Given the description of an element on the screen output the (x, y) to click on. 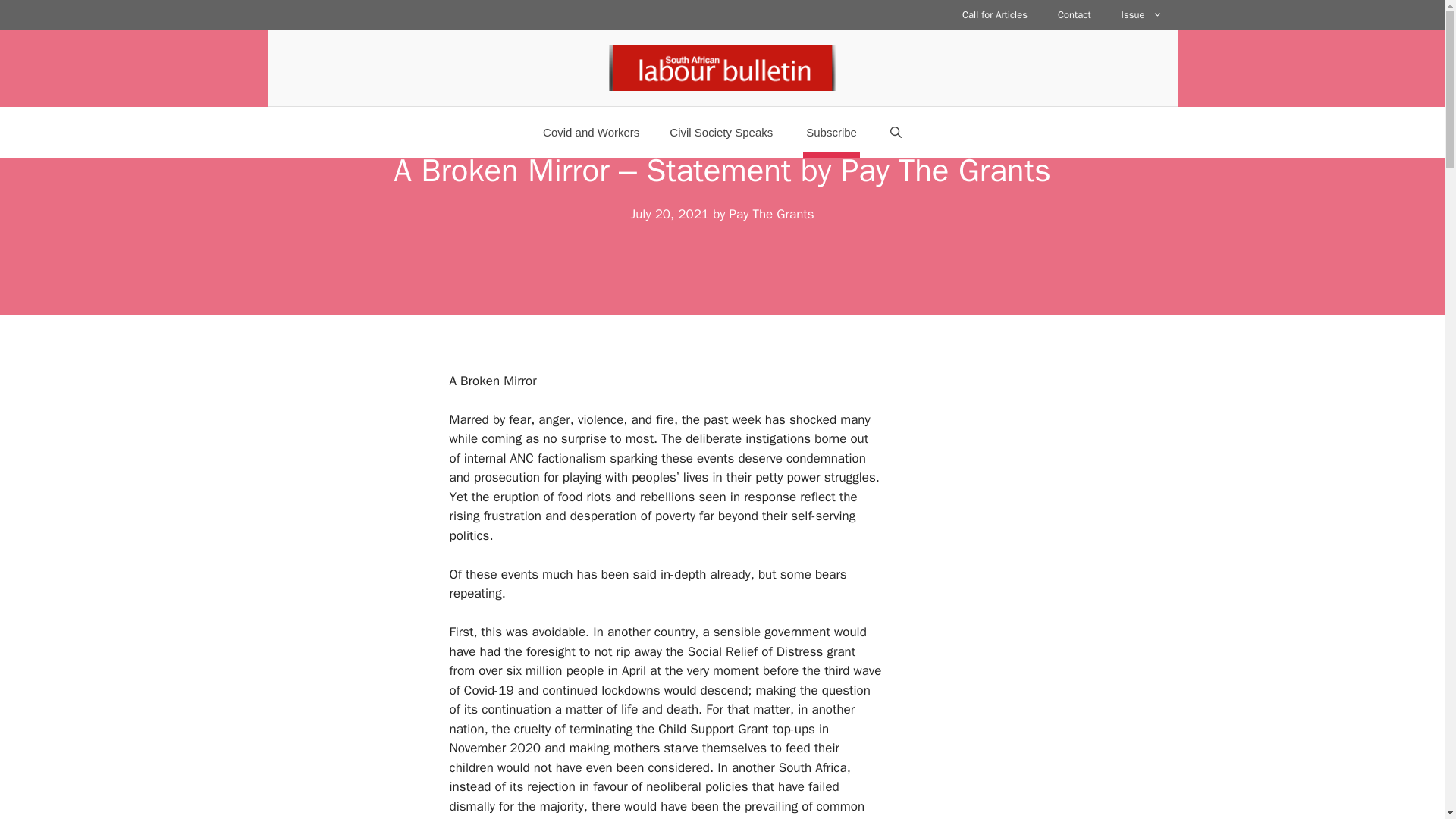
View all posts by Pay The Grants (771, 213)
Subscribe (831, 132)
Call for Articles (994, 15)
Covid and Workers (590, 132)
Issue (1141, 15)
Contact (1074, 15)
Civil Society Speaks (720, 132)
Pay The Grants (771, 213)
